Given the description of an element on the screen output the (x, y) to click on. 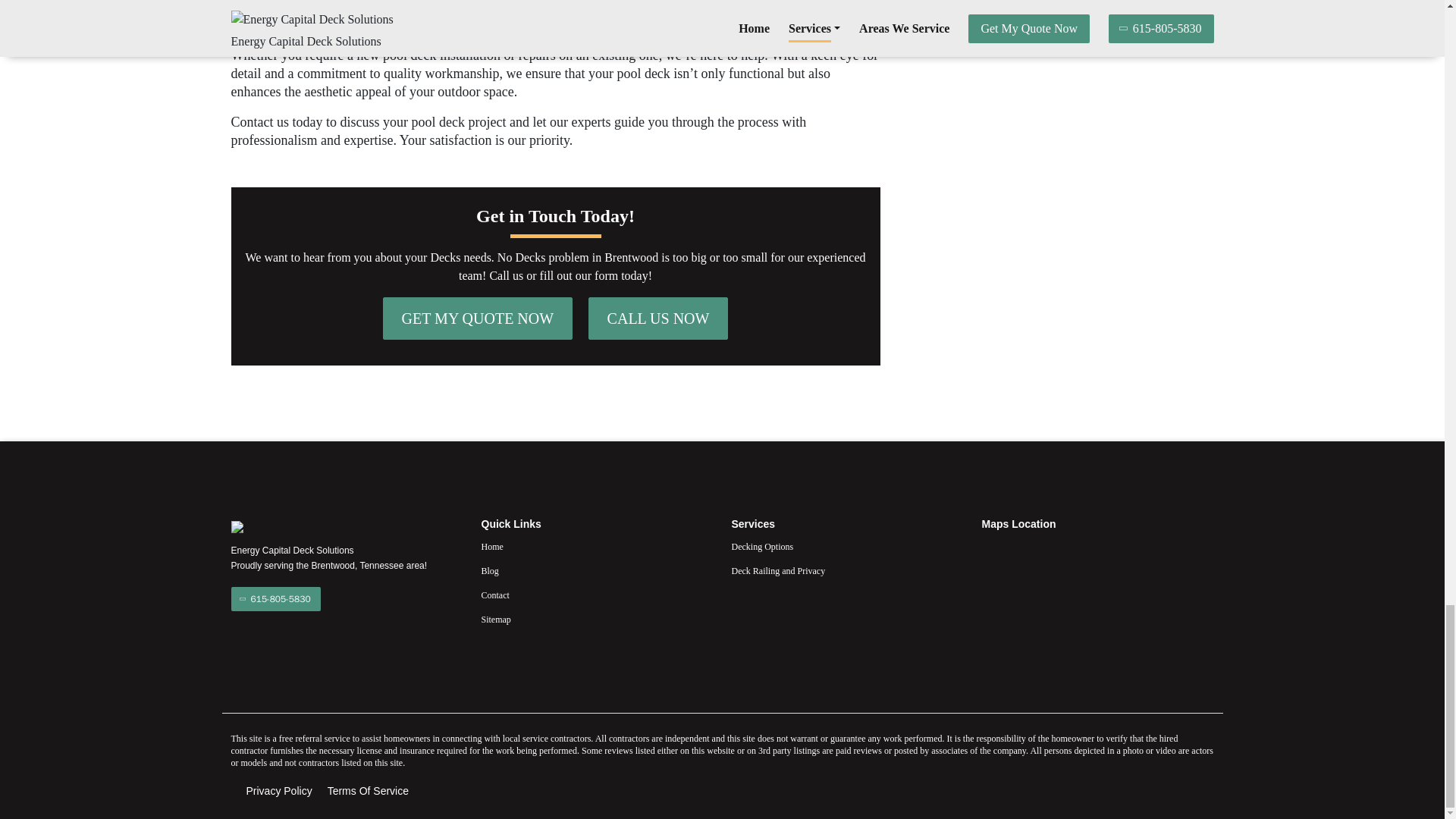
CALL US NOW (658, 318)
Home (596, 546)
615-805-5830 (275, 598)
Contact (596, 595)
Blog (596, 570)
Sitemap (596, 619)
GET MY QUOTE NOW (477, 318)
Decking Options (846, 546)
Privacy Policy (278, 791)
Terms Of Service (368, 791)
